Given the description of an element on the screen output the (x, y) to click on. 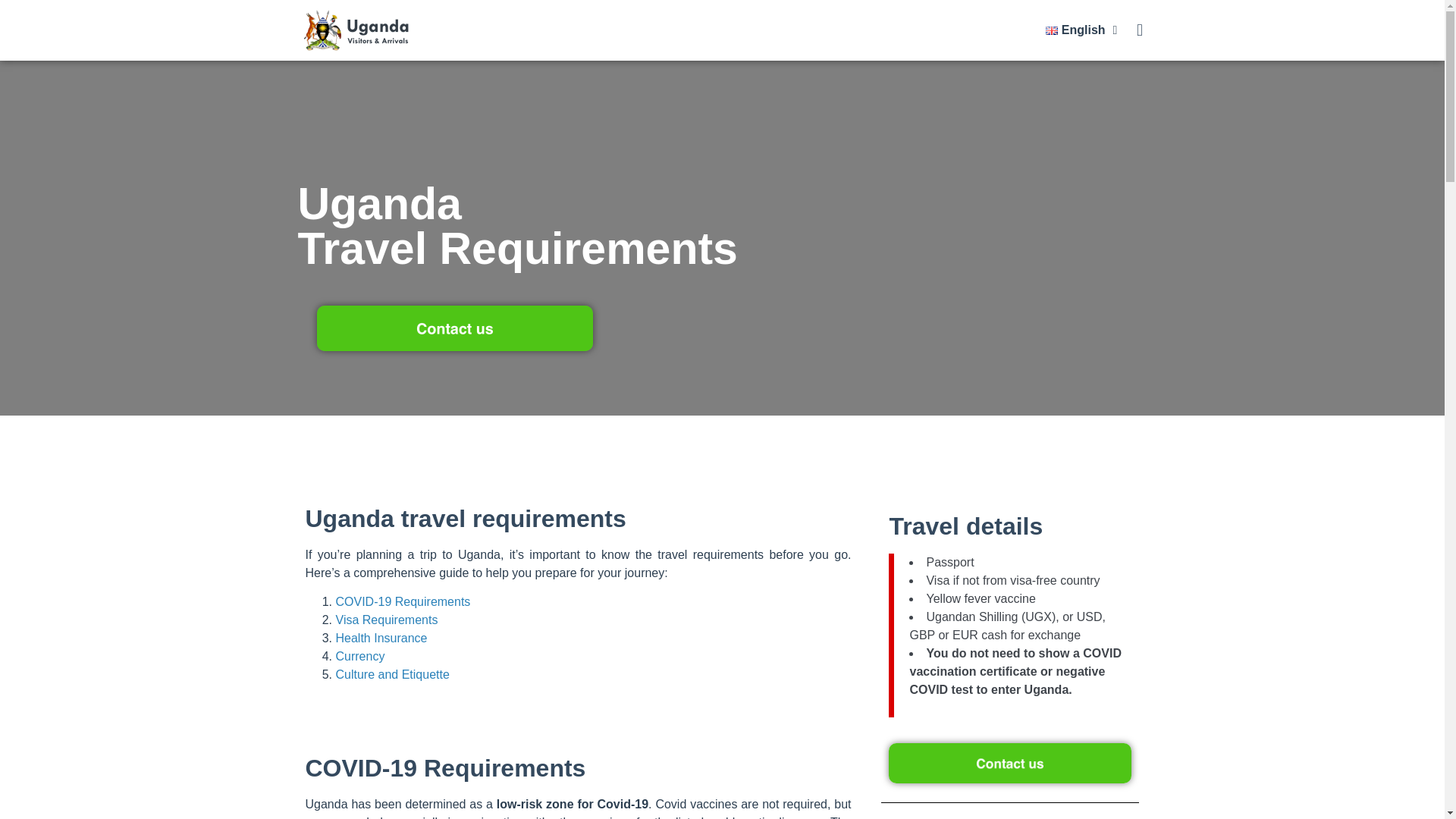
Button-EN-Contact-large.png (1009, 762)
English (1081, 30)
Visa Requirements (386, 619)
Button-EN-Contact-large.png (454, 328)
COVID-19 Requirements (402, 601)
Uganda-202306-Dark Transparent (355, 30)
Currency (359, 656)
Culture and Etiquette (391, 674)
Health Insurance (380, 637)
